Given the description of an element on the screen output the (x, y) to click on. 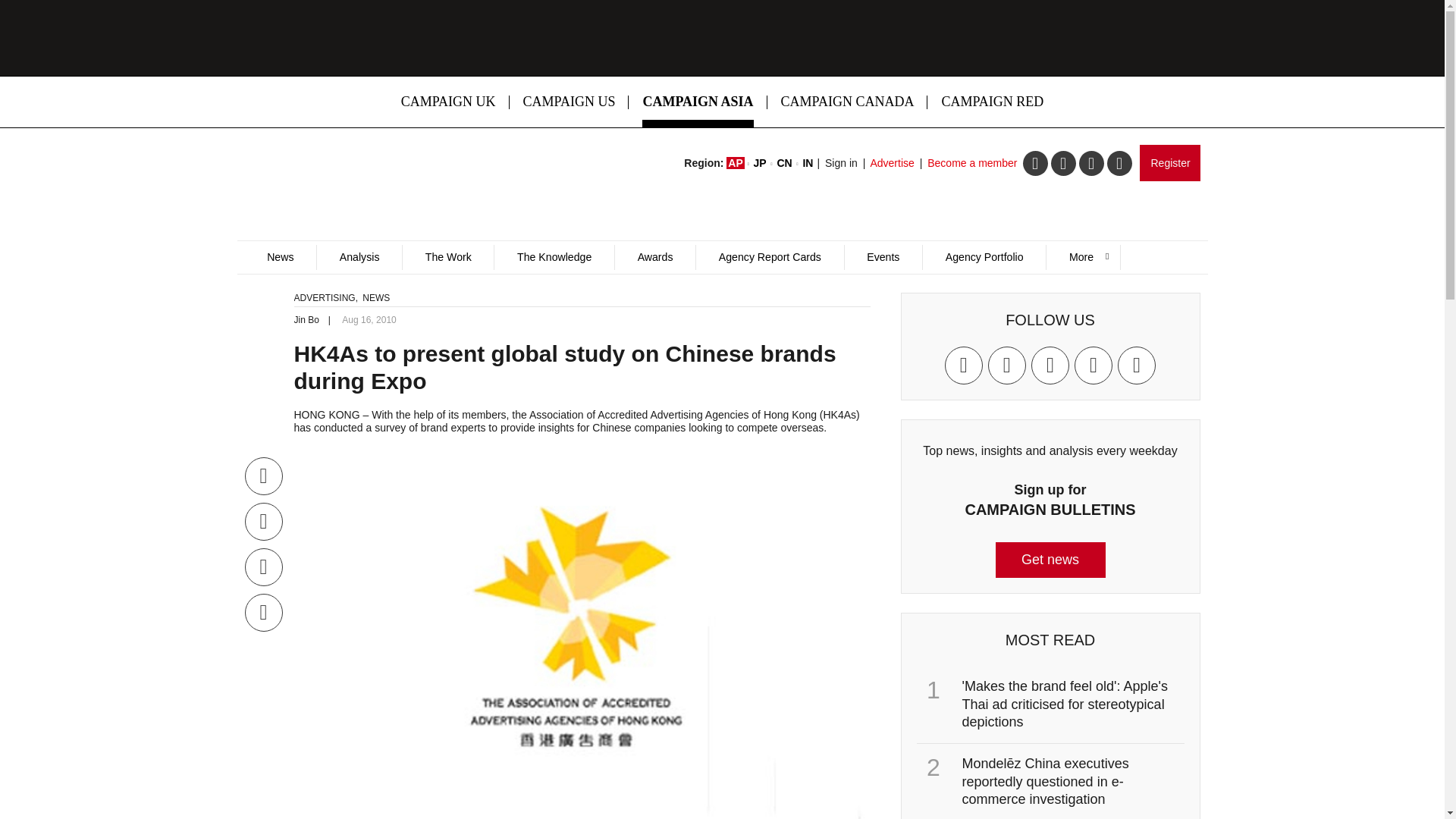
CN (783, 162)
The Work (447, 257)
Events (883, 257)
Awards (654, 257)
JP (760, 162)
Analysis (358, 257)
The Knowledge (553, 257)
Agency Portfolio (983, 257)
CAMPAIGN UK (448, 101)
CAMPAIGN RED (992, 101)
